Given the description of an element on the screen output the (x, y) to click on. 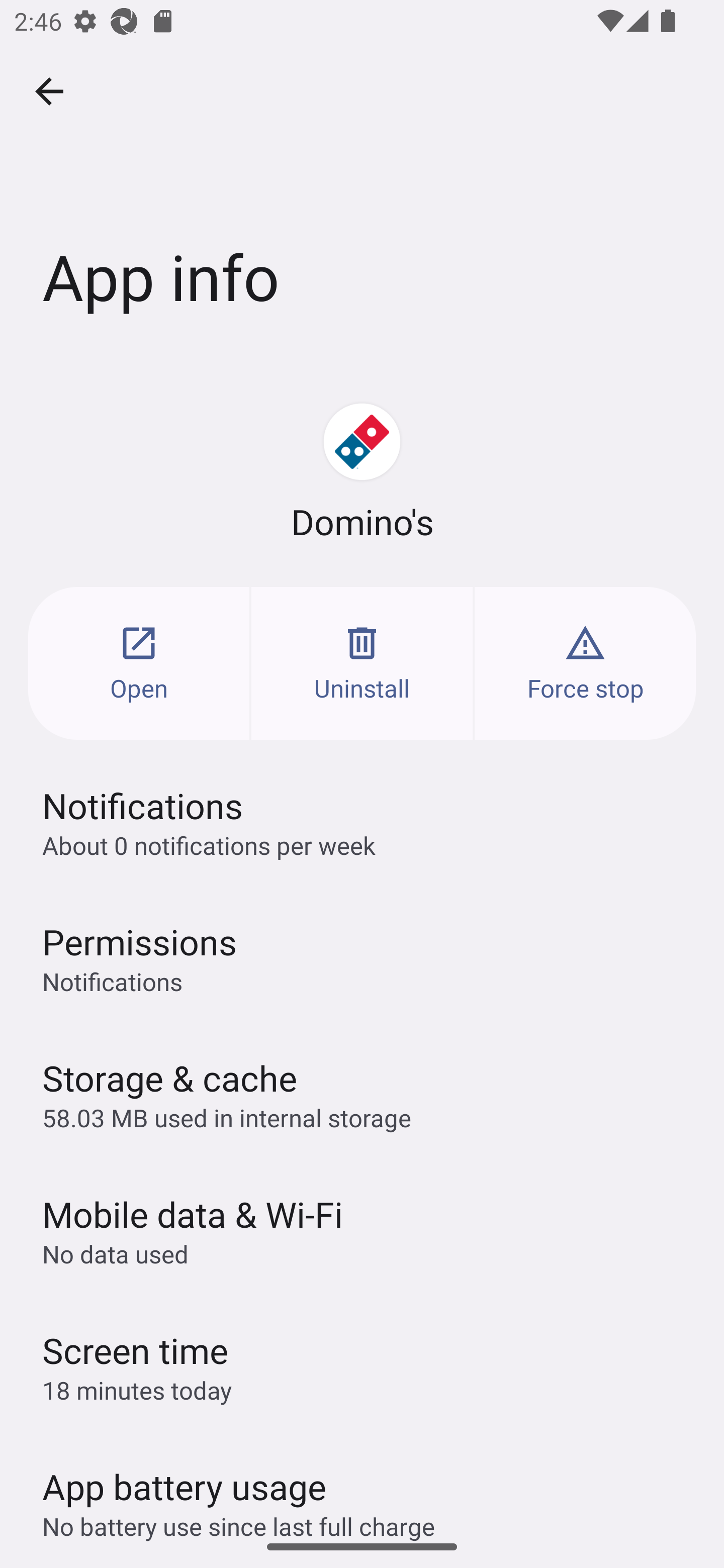
Navigate up (49, 91)
Open (138, 663)
Uninstall (361, 663)
Force stop (584, 663)
Notifications About 0 notifications per week (362, 822)
Permissions Notifications (362, 957)
Storage & cache 58.03 MB used in internal storage (362, 1093)
Mobile data & Wi‑Fi No data used (362, 1229)
Screen time 18 minutes today (362, 1366)
